Given the description of an element on the screen output the (x, y) to click on. 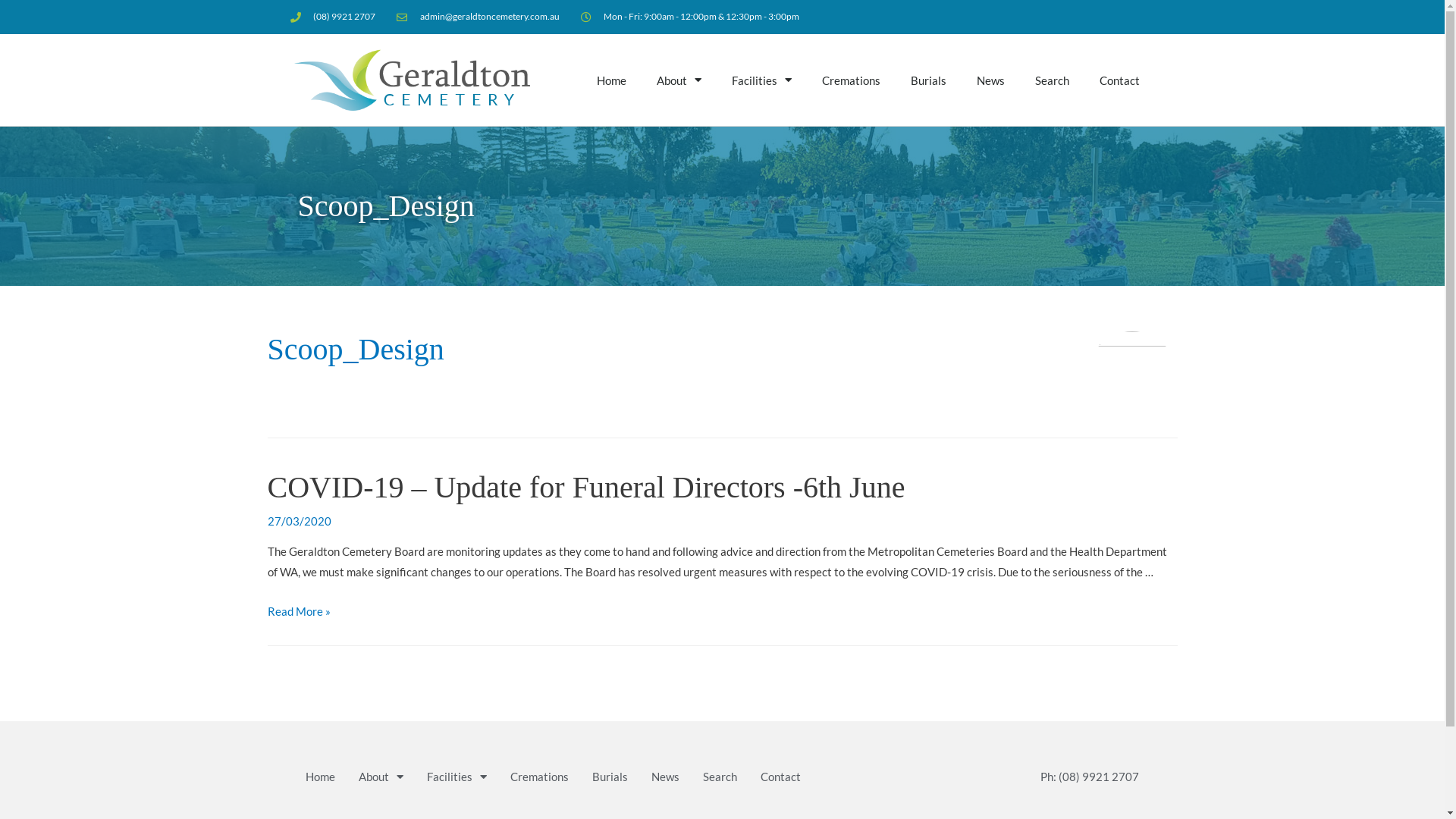
Contact Element type: text (1119, 80)
Burials Element type: text (609, 776)
Burials Element type: text (927, 80)
Facilities Element type: text (760, 80)
About Element type: text (678, 80)
Cremations Element type: text (538, 776)
Search Element type: text (719, 776)
Cremations Element type: text (850, 80)
Home Element type: text (610, 80)
Contact Element type: text (779, 776)
News Element type: text (990, 80)
News Element type: text (664, 776)
Search Element type: text (1051, 80)
About Element type: text (379, 776)
Facilities Element type: text (456, 776)
Home Element type: text (319, 776)
